Given the description of an element on the screen output the (x, y) to click on. 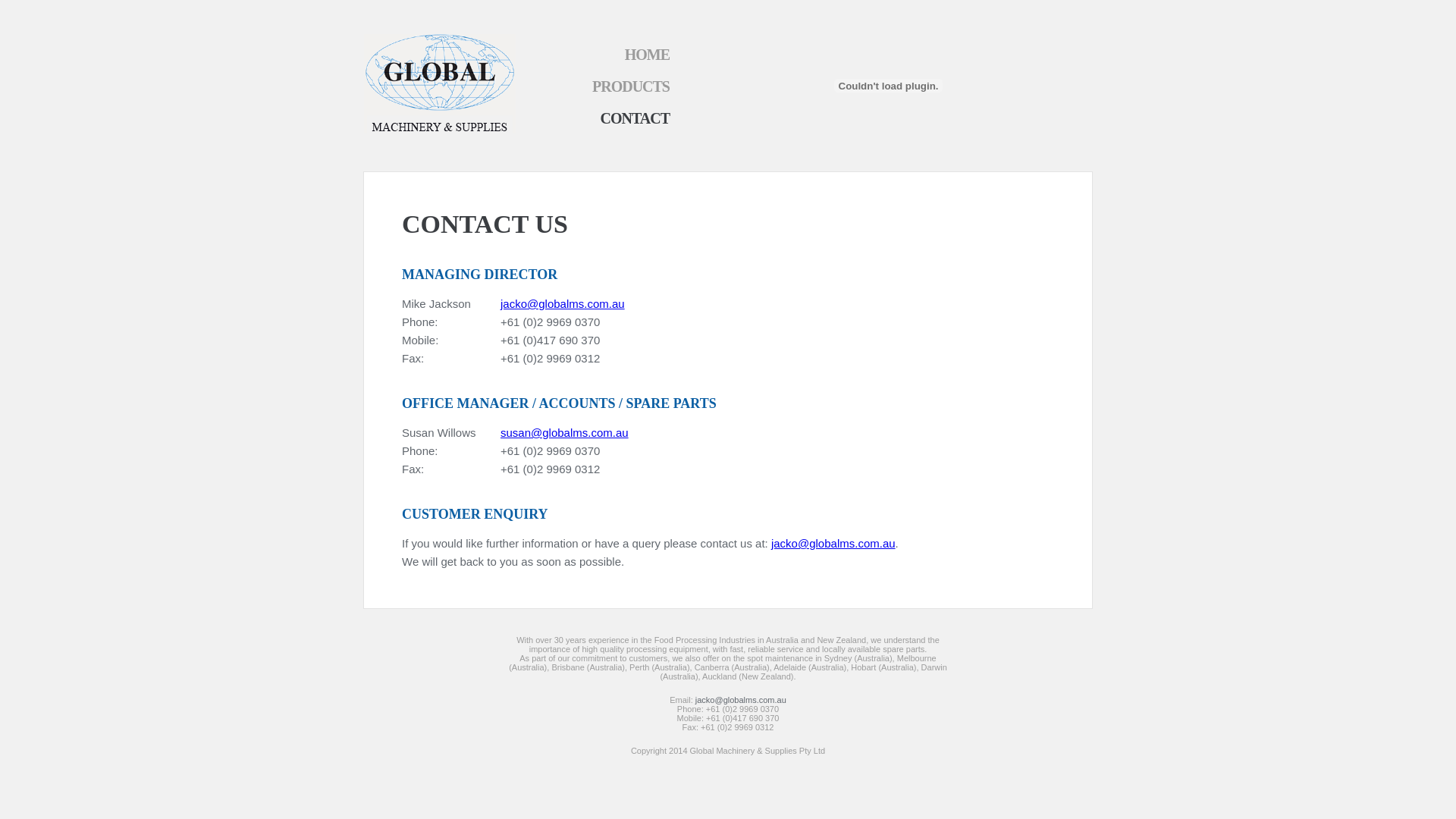
HOME Element type: text (646, 54)
PRODUCTS Element type: text (630, 86)
susan@globalms.com.au Element type: text (564, 432)
jacko@globalms.com.au Element type: text (562, 303)
jacko@globalms.com.au Element type: text (833, 542)
jacko@globalms.com.au Element type: text (740, 699)
